Given the description of an element on the screen output the (x, y) to click on. 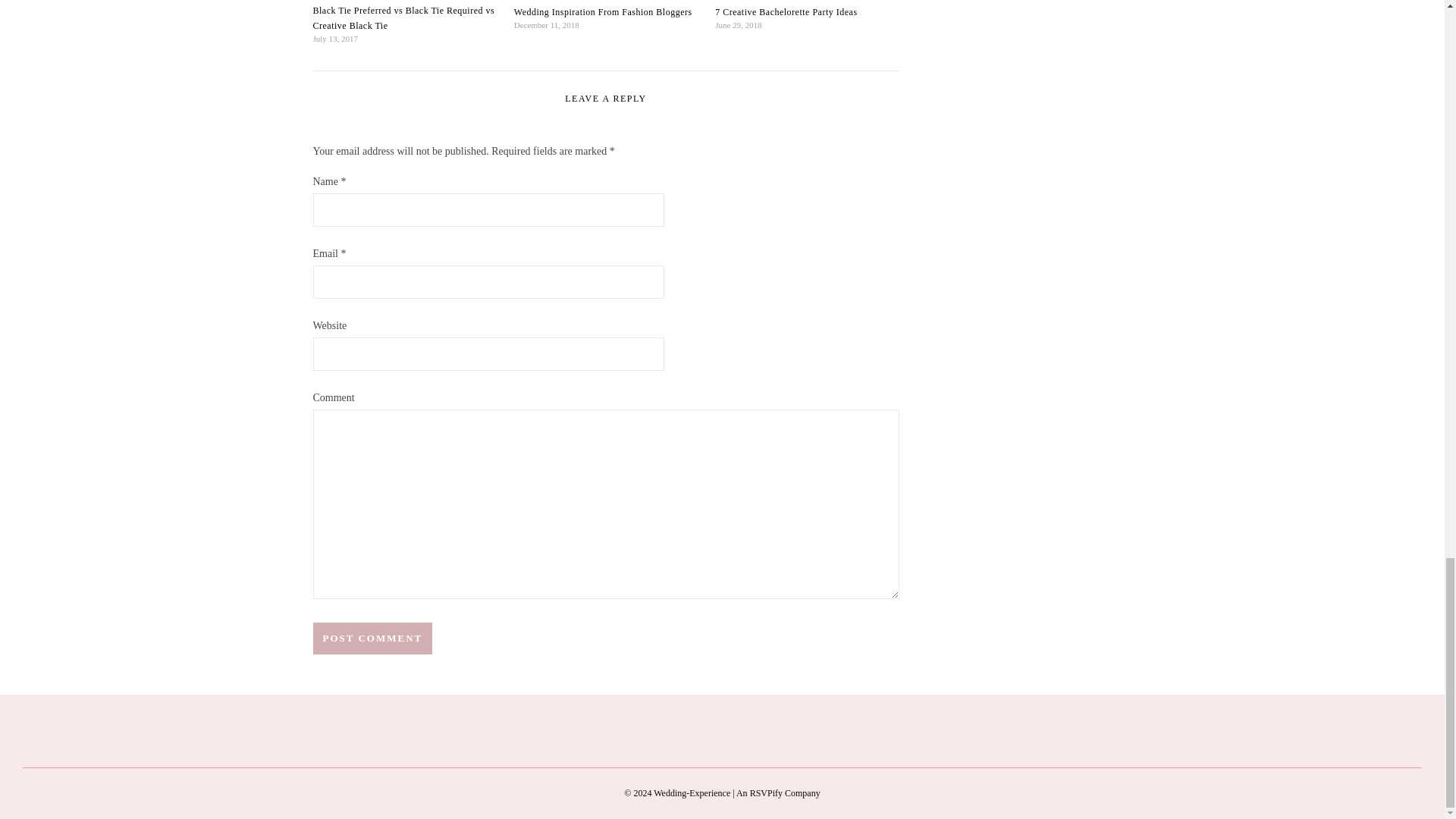
Post Comment (372, 638)
Wedding Inspiration From Fashion Bloggers (603, 11)
7 Creative Bachelorette Party Ideas (785, 11)
Post Comment (372, 638)
